Given the description of an element on the screen output the (x, y) to click on. 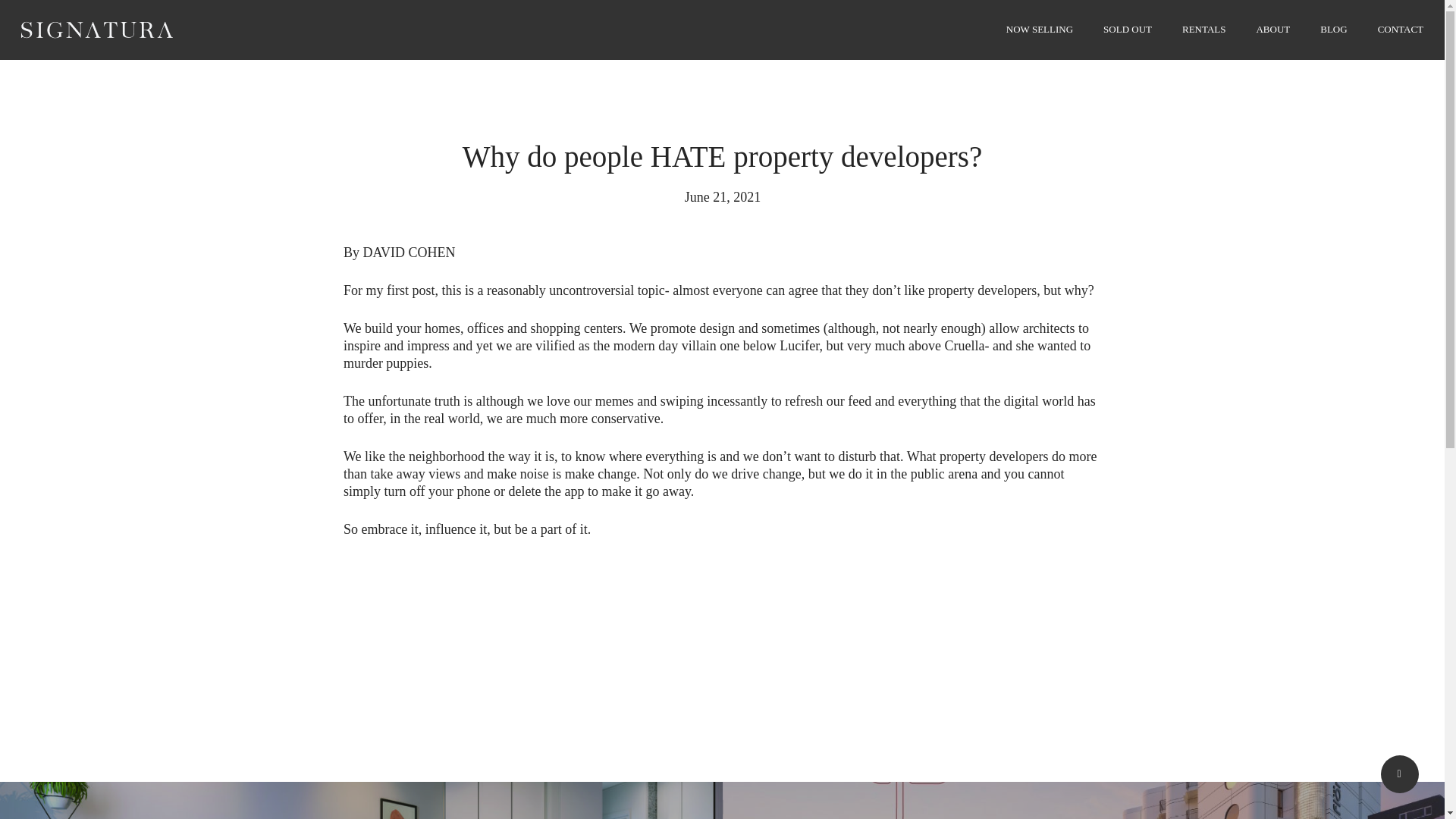
ABOUT (1272, 29)
BLOG (1333, 29)
RENTALS (1203, 29)
News (721, 112)
CONTACT (1400, 29)
SOLD OUT (1127, 29)
NOW SELLING (1039, 29)
